Given the description of an element on the screen output the (x, y) to click on. 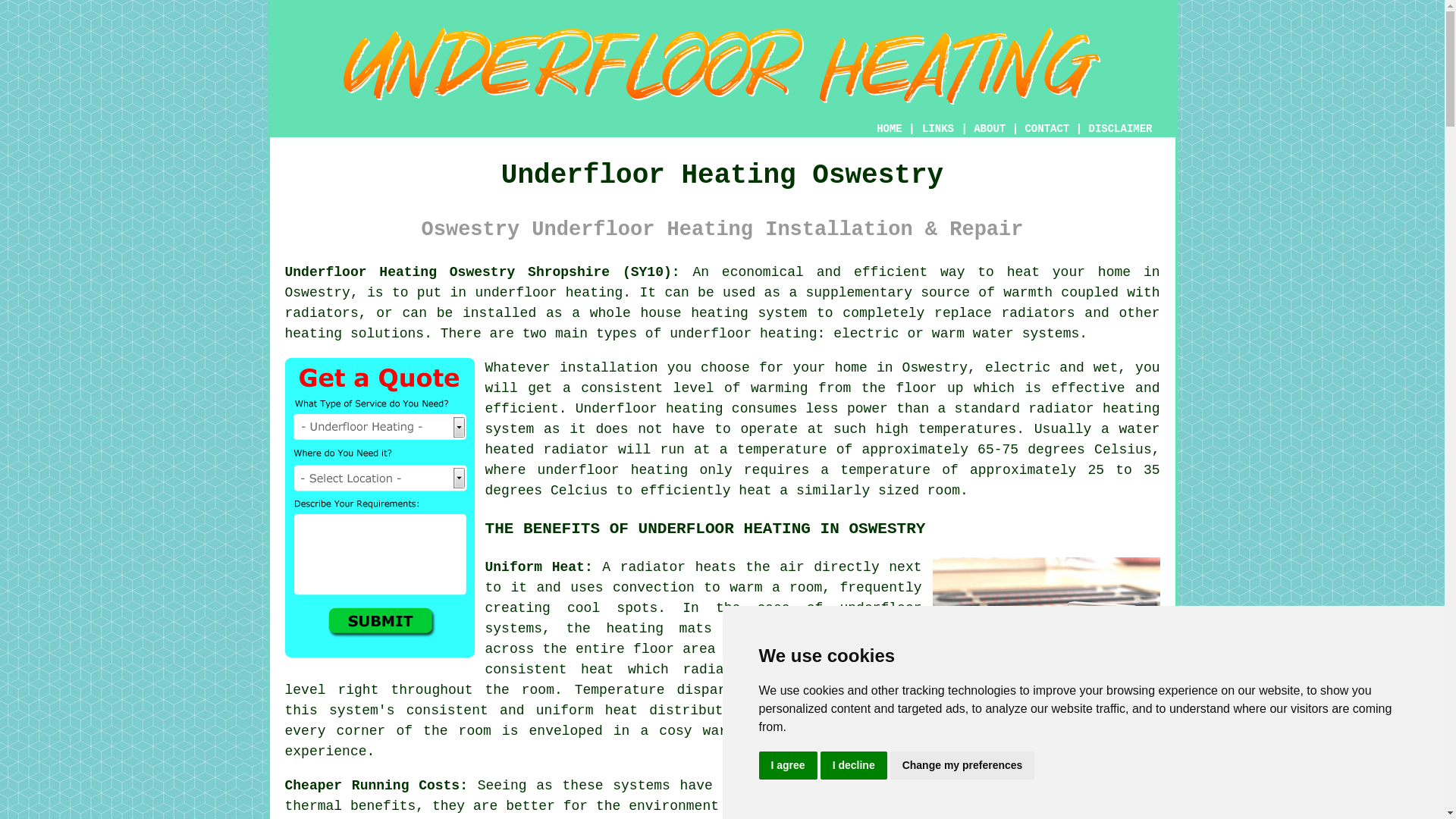
LINKS (938, 128)
Change my preferences (962, 765)
I decline (853, 765)
Underfloor Heating Oswestry (721, 66)
I agree (787, 765)
HOME (889, 128)
